Given the description of an element on the screen output the (x, y) to click on. 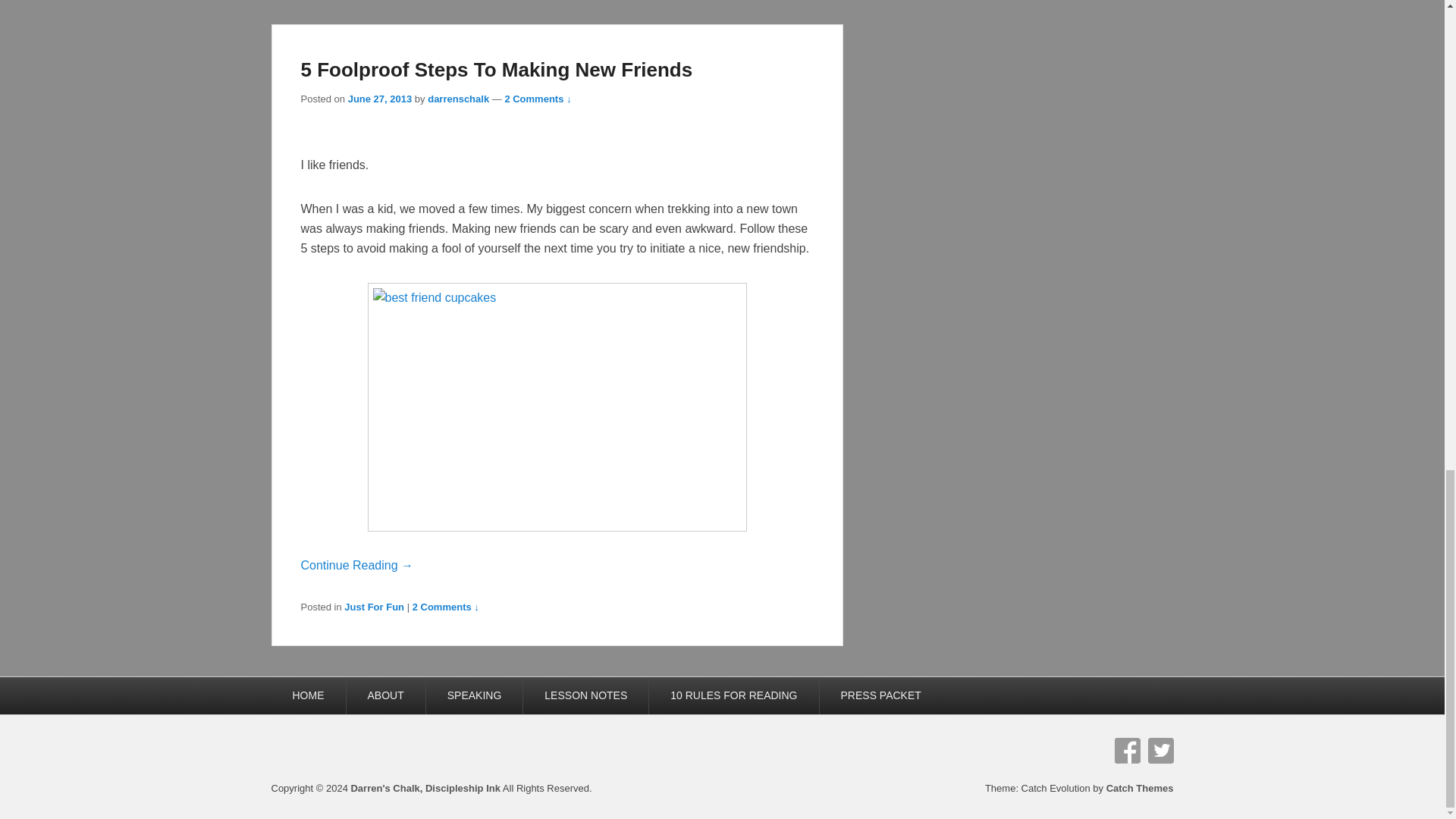
Permalink to 5 Foolproof Steps To Making New Friends (496, 69)
Twitter (1160, 750)
5 Foolproof Steps To Making New Friends (496, 69)
darrenschalk (458, 98)
Facebook (1127, 750)
Just For Fun (373, 606)
View all posts by darrenschalk (458, 98)
June 27, 2013 (379, 98)
Darren's Chalk, Discipleship Ink (424, 787)
8:00 am (379, 98)
Catch Themes (1139, 787)
